Given the description of an element on the screen output the (x, y) to click on. 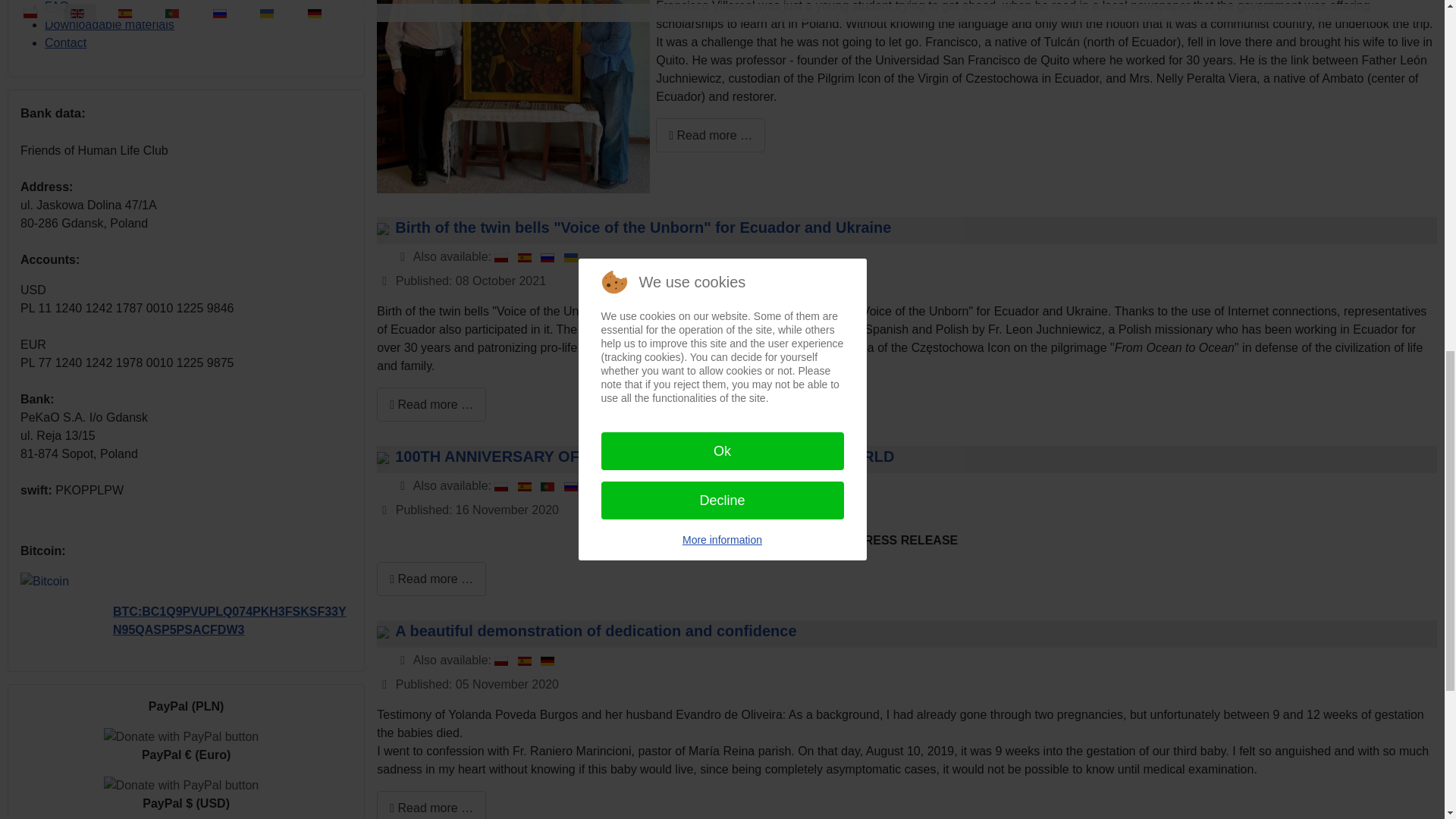
PayPal - The safer, easier way to pay online! (181, 737)
FAQ (56, 6)
Downloadable materials (109, 24)
BTC:BC1Q9PVUPLQ074PKH3FSKSF33YN95QASP5PSACFDW3 (229, 620)
Contact (65, 42)
PayPal - The safer, easier way to pay online! (181, 785)
